Given the description of an element on the screen output the (x, y) to click on. 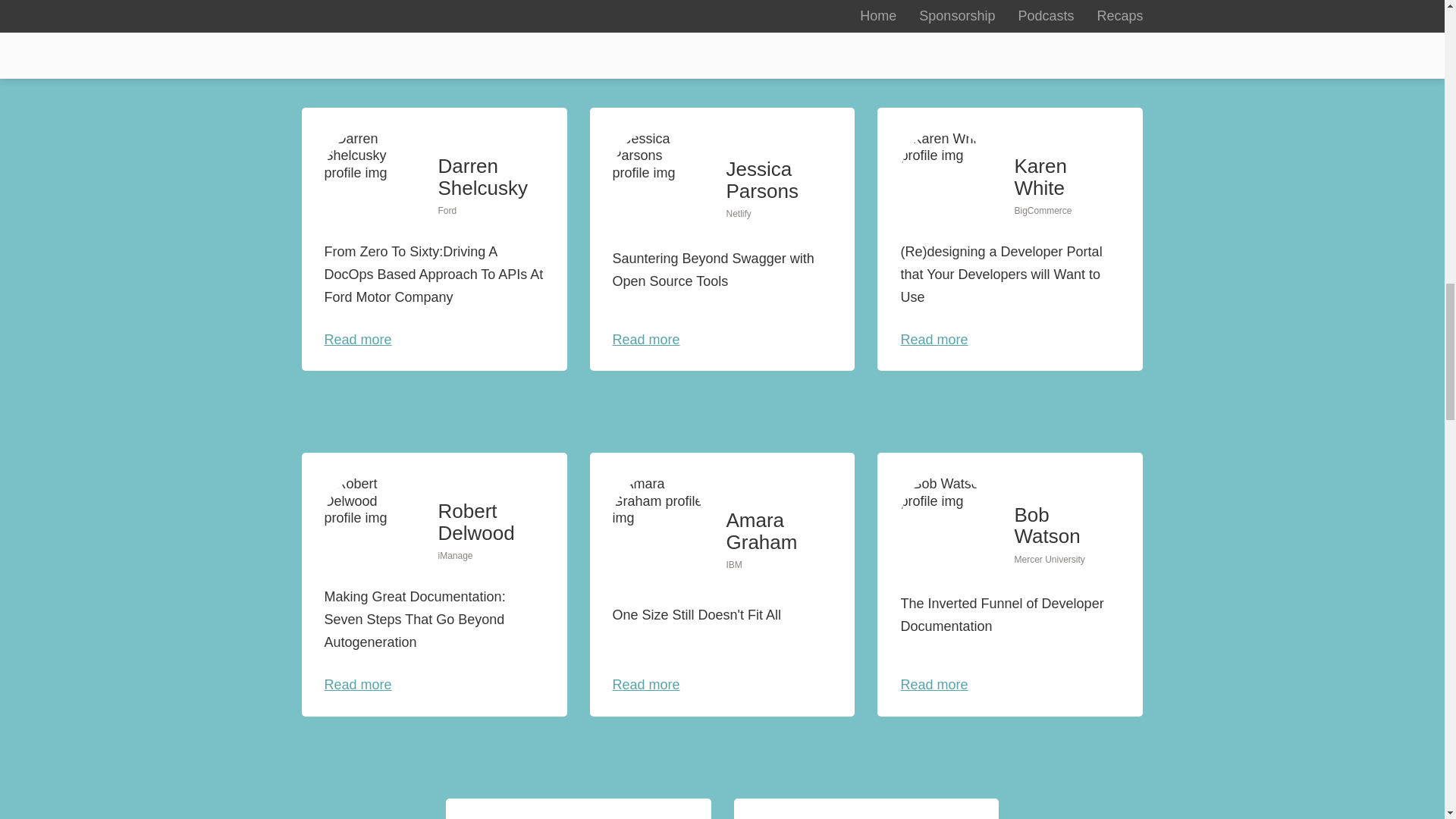
Read more (357, 339)
Read more (933, 0)
Read more (357, 0)
Read more (645, 684)
Read more (933, 339)
Read more (933, 684)
Read more (357, 684)
Read more (645, 339)
Read more (645, 0)
